Given the description of an element on the screen output the (x, y) to click on. 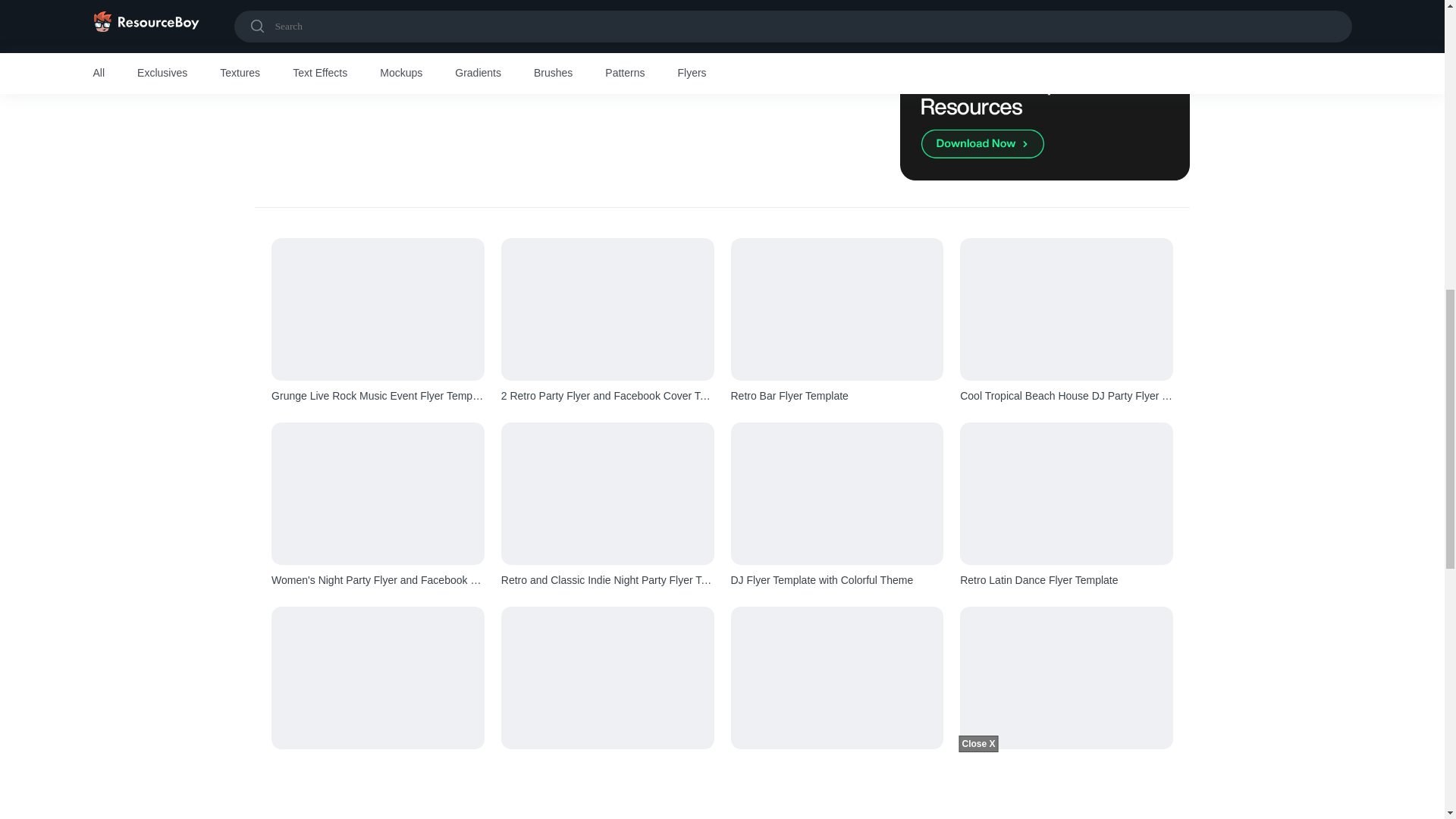
3rd party ad content (527, 64)
